Given the description of an element on the screen output the (x, y) to click on. 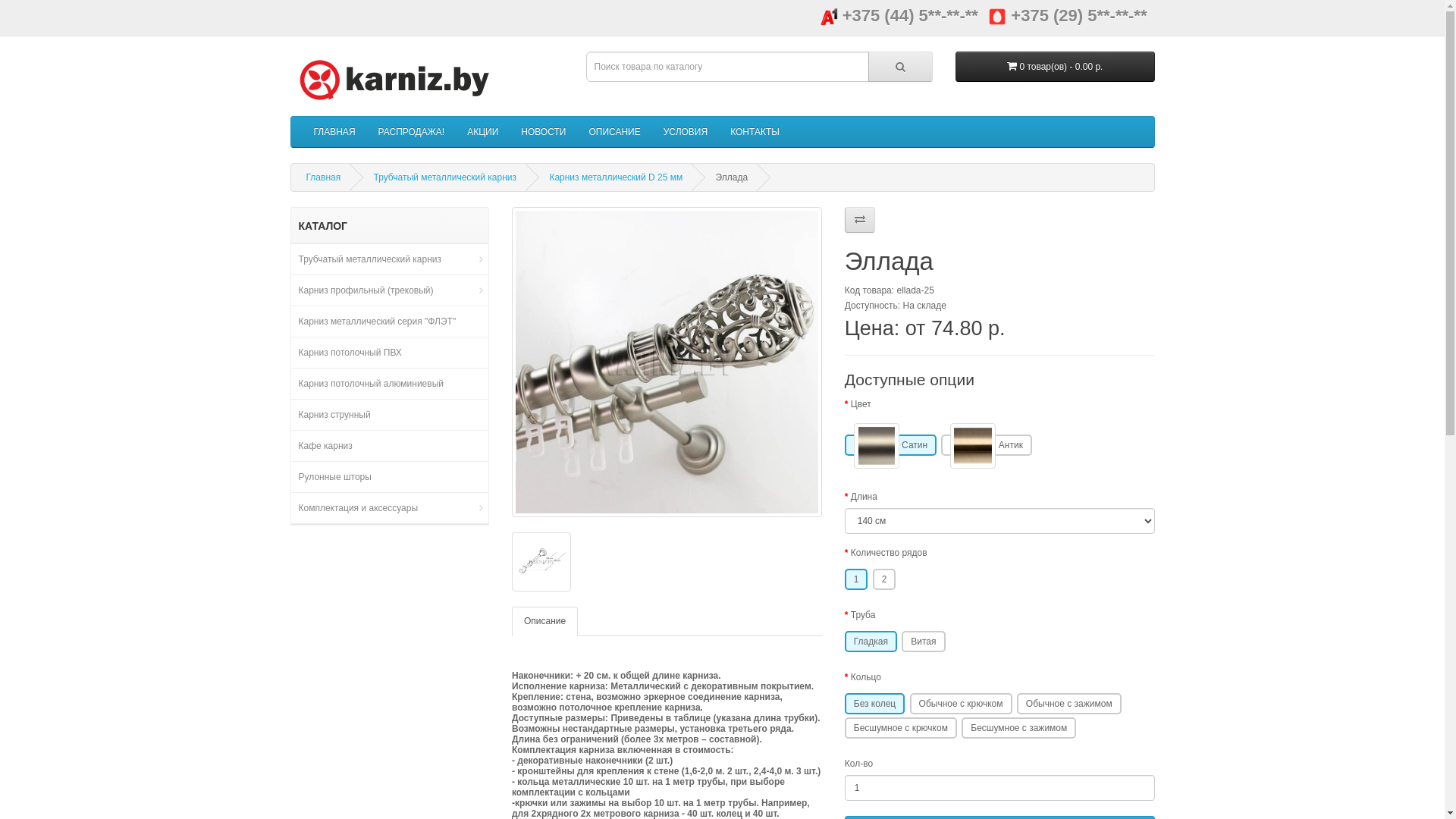
+375 (29) 5**-**-** Element type: text (1067, 15)
+375 (44) 5**-**-** Element type: text (898, 15)
